Given the description of an element on the screen output the (x, y) to click on. 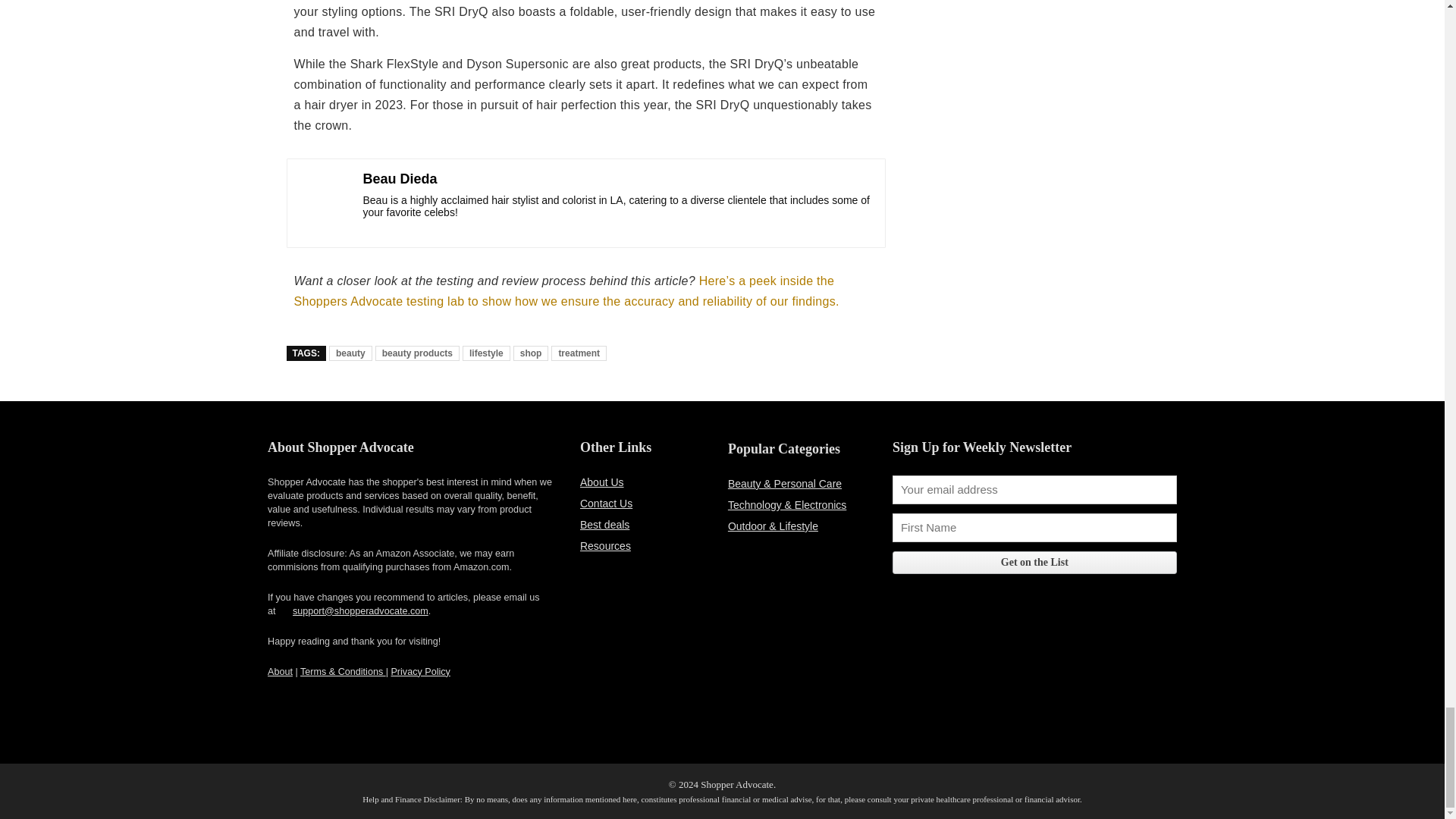
Get on the List (1034, 562)
treatment (579, 353)
beauty (350, 353)
lifestyle (487, 353)
shop (530, 353)
beauty products (417, 353)
